Given the description of an element on the screen output the (x, y) to click on. 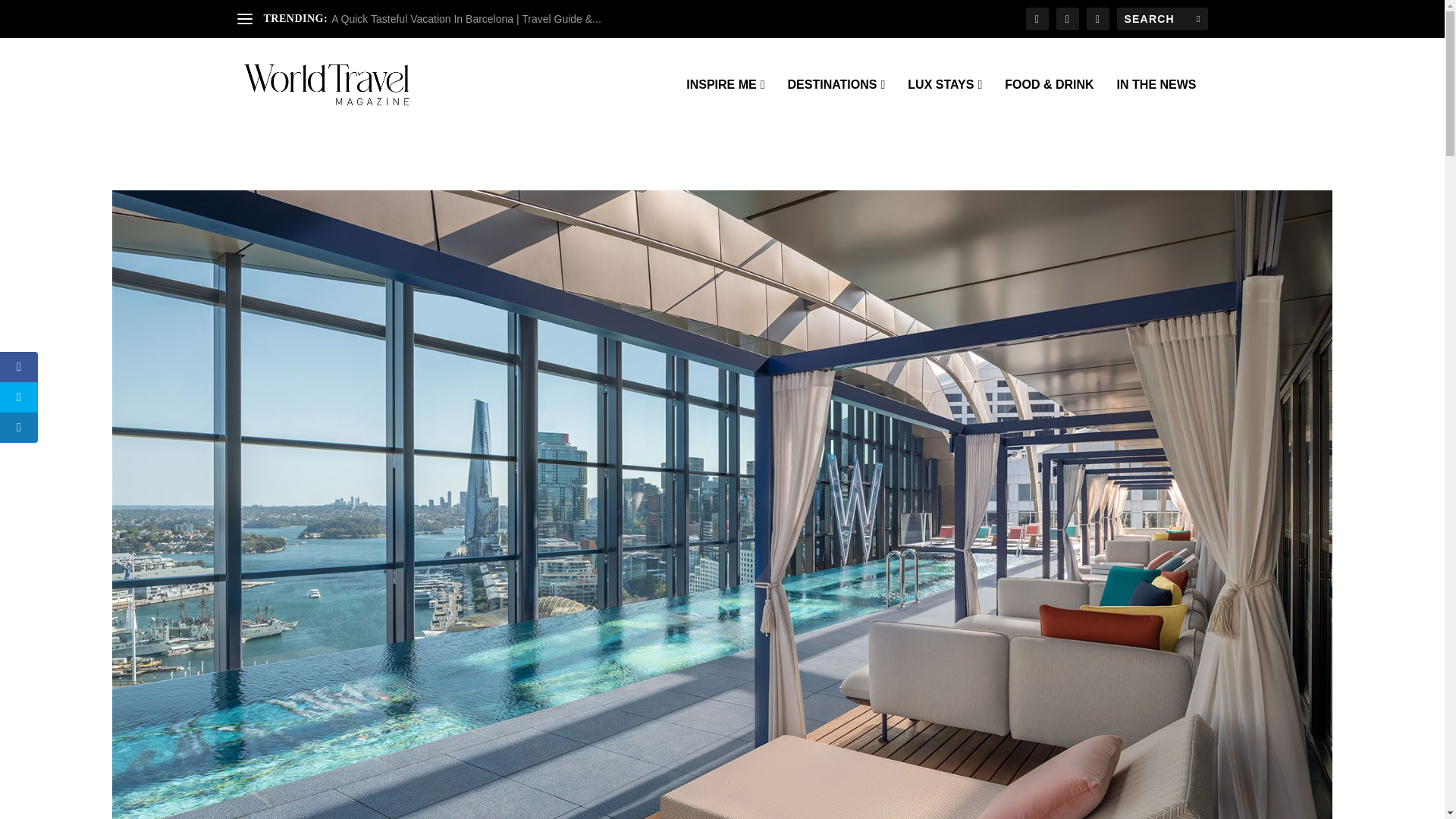
INSPIRE ME (724, 104)
LUX STAYS (944, 104)
DESTINATIONS (836, 104)
Search for: (1161, 18)
IN THE NEWS (1156, 104)
